Given the description of an element on the screen output the (x, y) to click on. 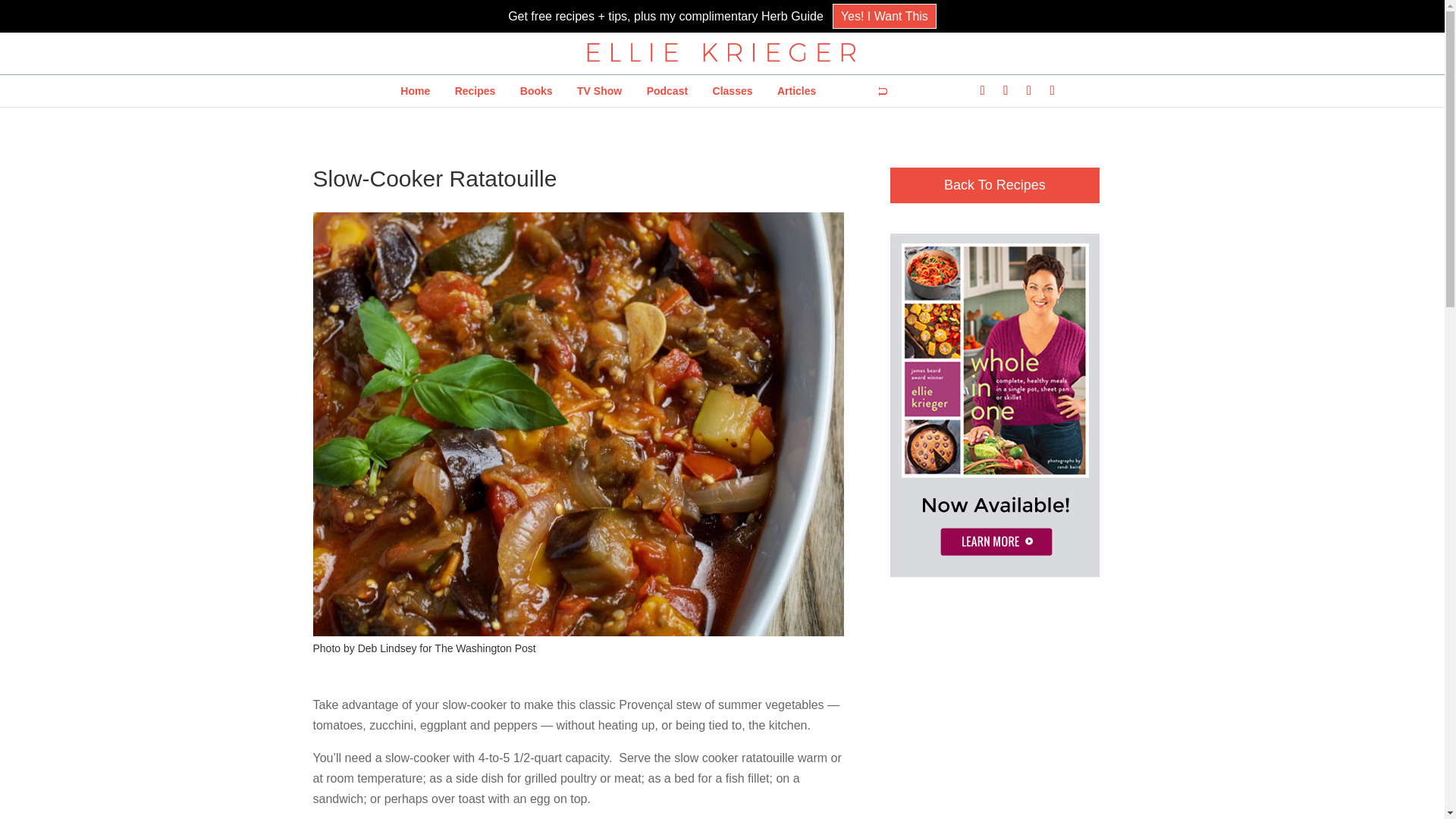
Classes (731, 91)
Articles (797, 91)
Back To Recipes (994, 185)
Books (536, 91)
Yes! I Want This (884, 16)
Home (415, 91)
Podcast (667, 91)
The Washington Post (484, 648)
Recipes (475, 91)
TV Show (598, 91)
